Given the description of an element on the screen output the (x, y) to click on. 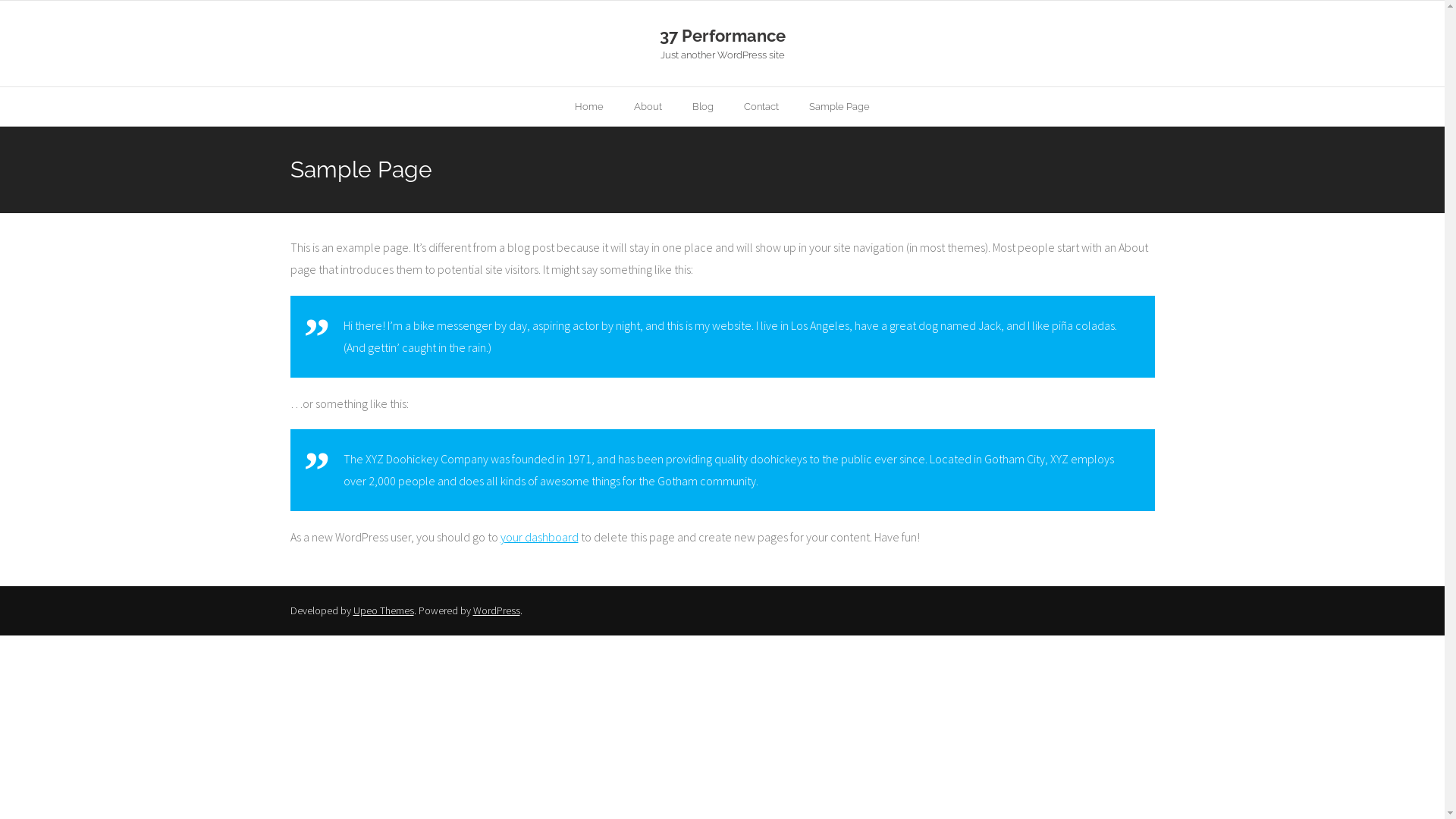
WordPress Element type: text (496, 610)
Contact Element type: text (760, 106)
Blog Element type: text (702, 106)
your dashboard Element type: text (539, 536)
About Element type: text (647, 106)
Sample Page Element type: text (838, 106)
Upeo Themes Element type: text (383, 610)
37 Performance
Just another WordPress site Element type: text (722, 43)
Home Element type: text (588, 106)
